Given the description of an element on the screen output the (x, y) to click on. 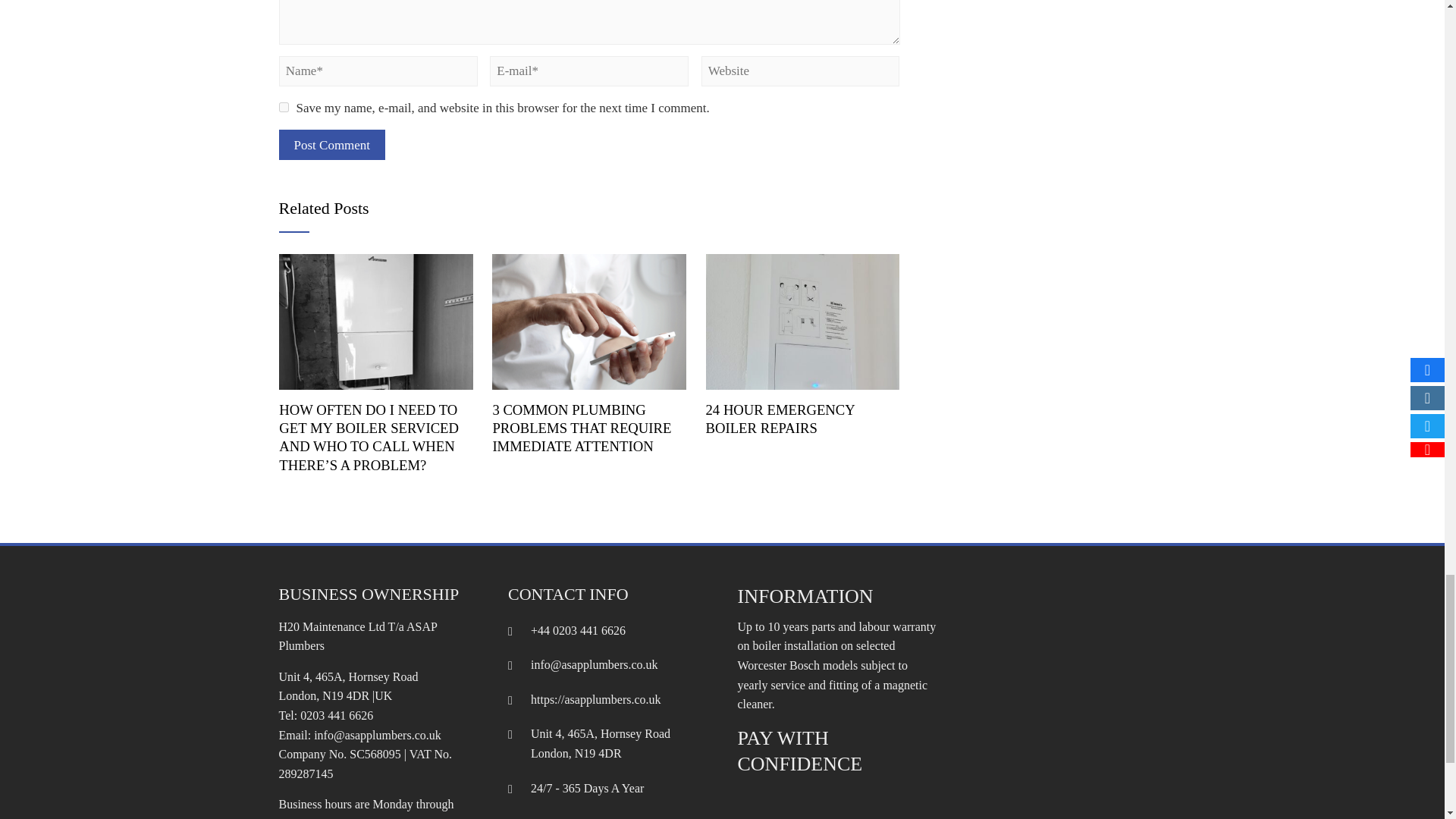
24 HOUR EMERGENCY BOILER REPAIRS (802, 319)
24 HOUR EMERGENCY BOILER REPAIRS (781, 418)
3 COMMON PLUMBING PROBLEMS THAT REQUIRE IMMEDIATE ATTENTION (581, 428)
yes (283, 107)
Post Comment (332, 144)
3 COMMON PLUMBING PROBLEMS THAT REQUIRE IMMEDIATE ATTENTION (588, 319)
